Given the description of an element on the screen output the (x, y) to click on. 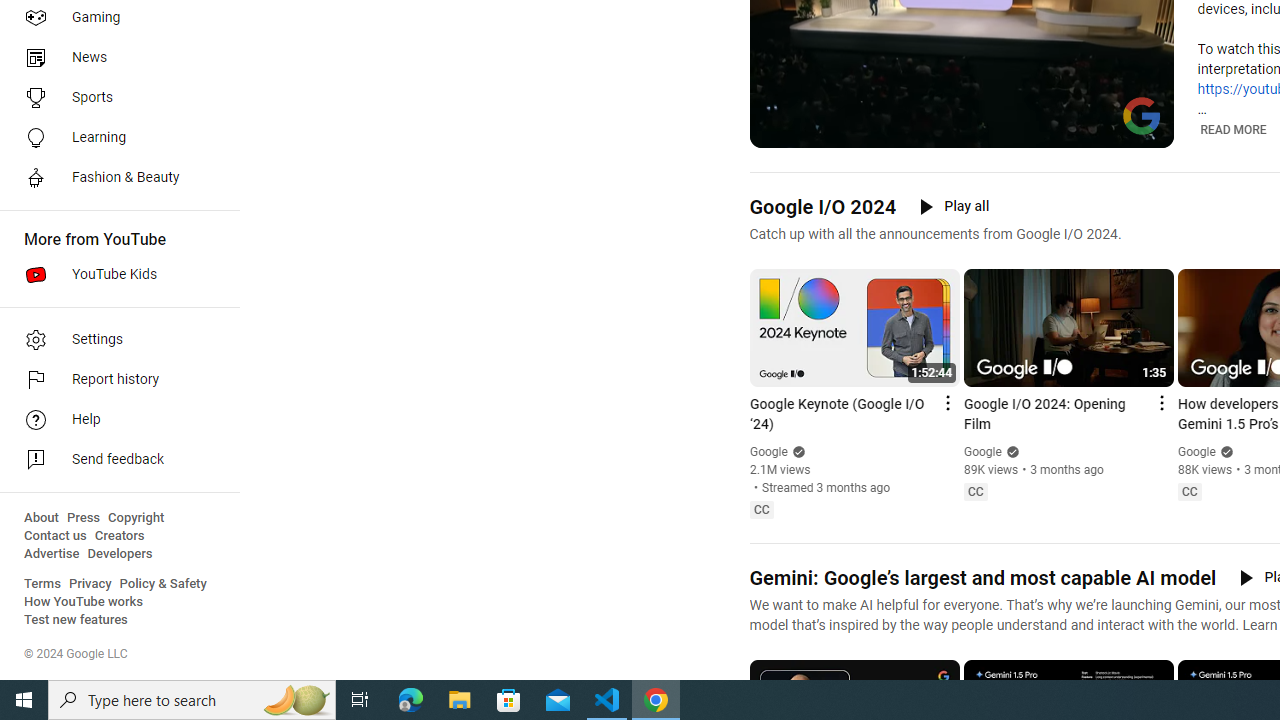
Report history (113, 380)
Send feedback (113, 459)
Closed captions (1189, 492)
Learning (113, 137)
MadeByGoogle '24: Intro (985, 130)
YouTube Kids (113, 274)
Play all (954, 206)
Full screen (f) (1143, 130)
Settings (113, 339)
Advertise (51, 554)
Contact us (55, 536)
READ MORE (1232, 129)
Policy & Safety (163, 584)
